Given the description of an element on the screen output the (x, y) to click on. 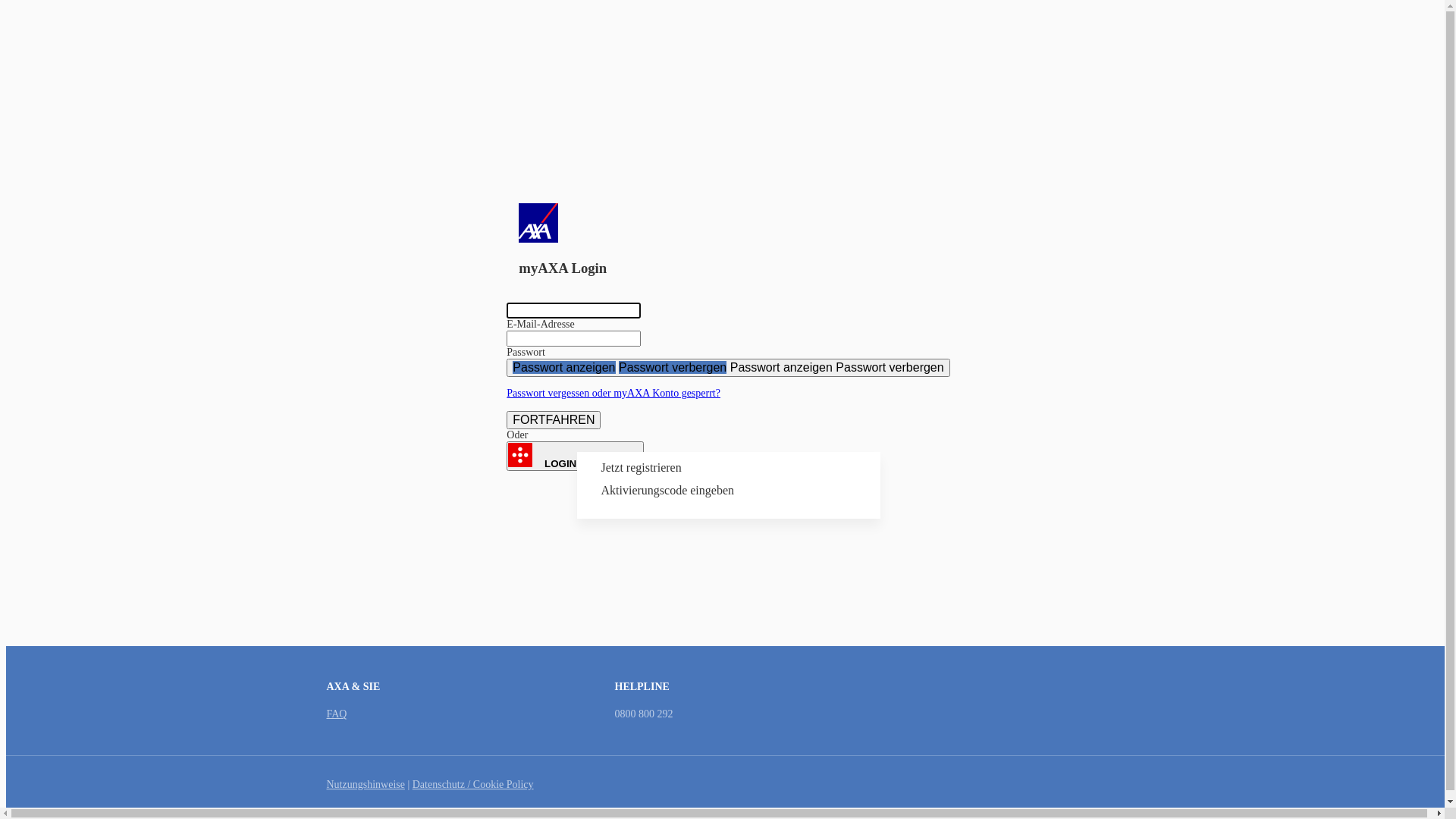
FORTFAHREN Element type: text (553, 420)
Nutzungshinweise Element type: text (365, 784)
Passwort vergessen oder myAXA Konto gesperrt? Element type: text (613, 392)
FAQ Element type: text (336, 713)
Datenschutz / Cookie Policy Element type: text (472, 784)
LOGIN MIT SWISSID Element type: text (574, 455)
AXA Element type: hover (727, 180)
default Element type: text (546, 310)
